Given the description of an element on the screen output the (x, y) to click on. 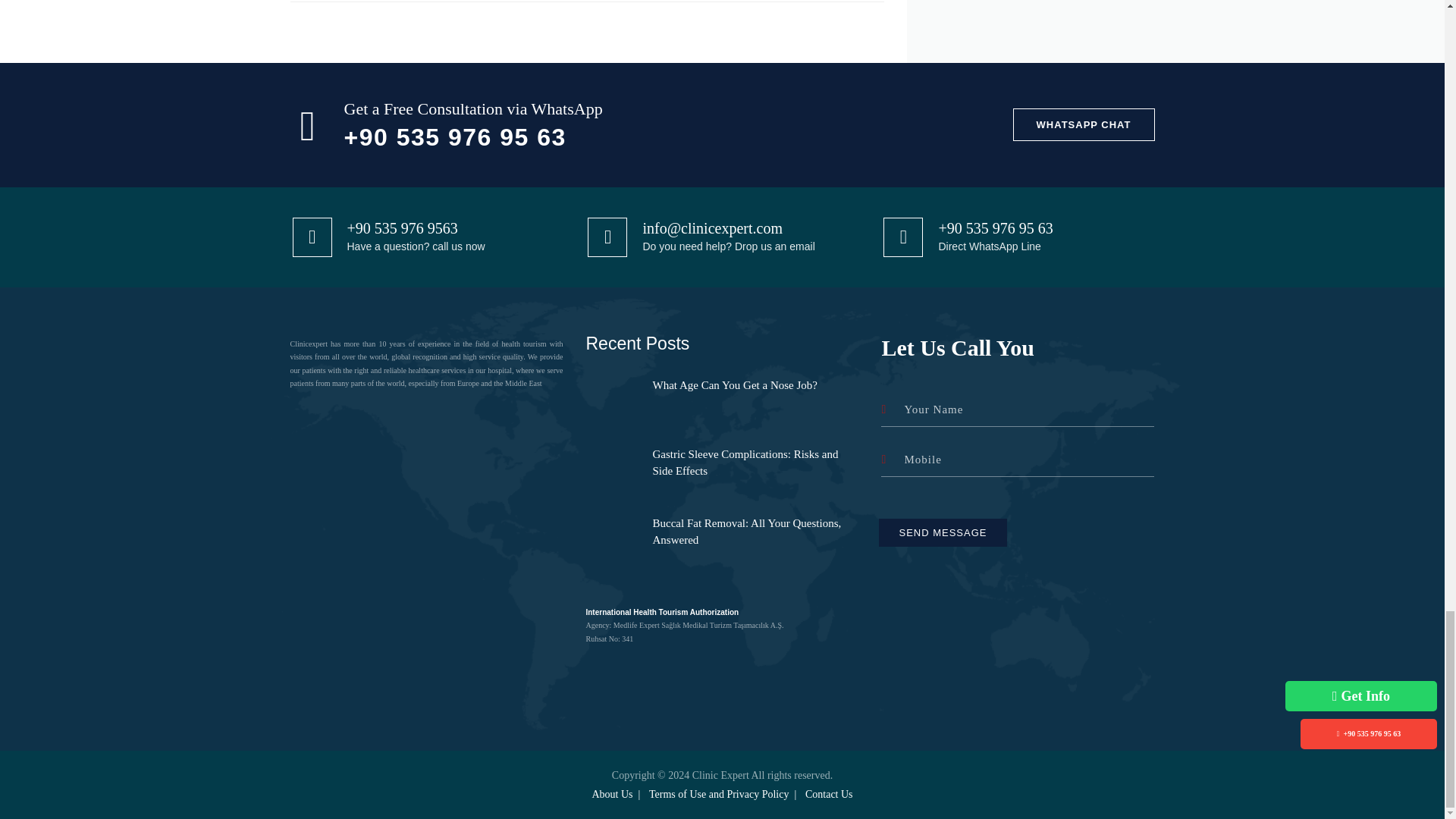
DMCA.com Protection Status (425, 497)
SEND MESSAGE (942, 532)
